Given the description of an element on the screen output the (x, y) to click on. 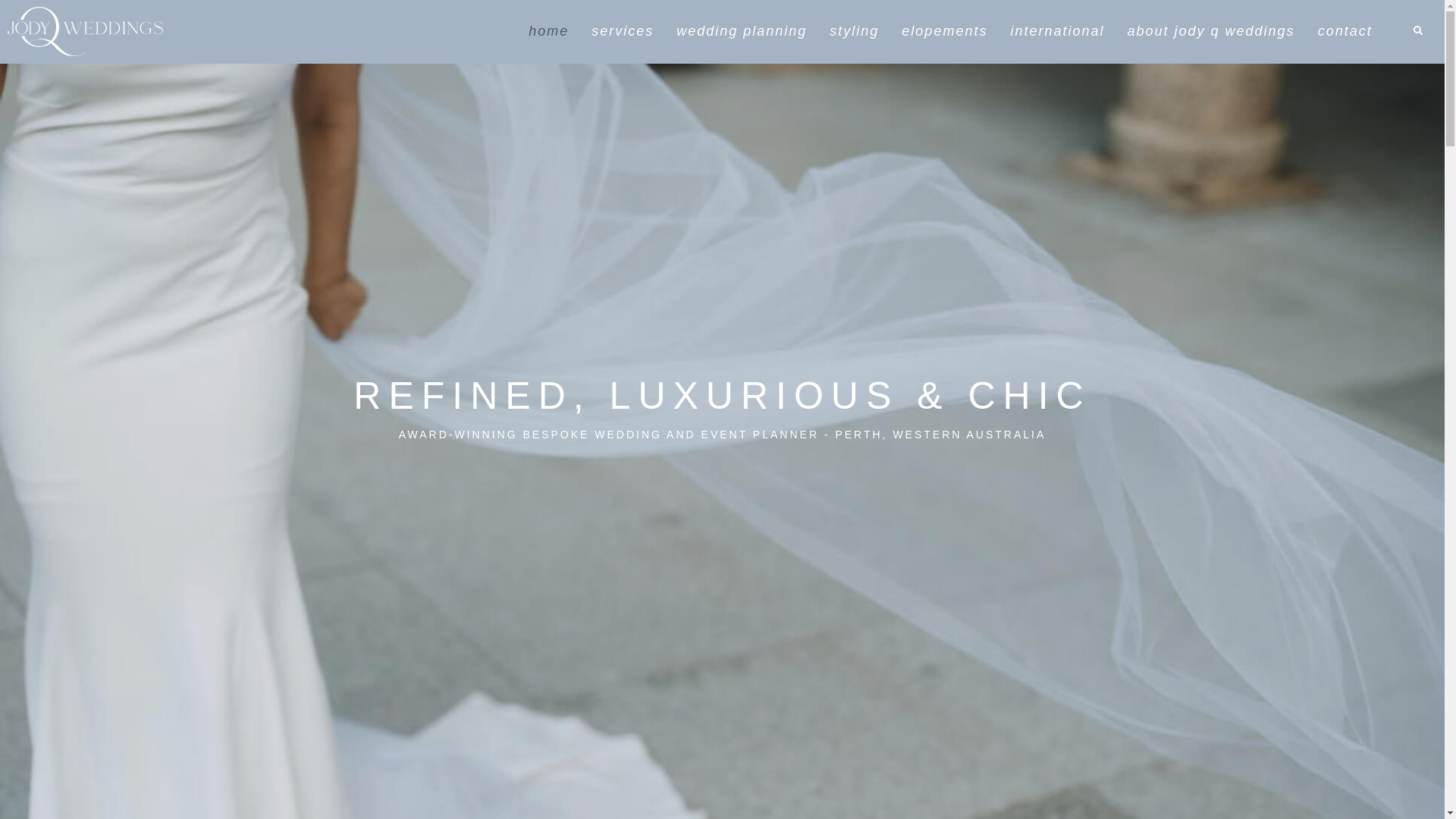
contact Element type: text (1344, 30)
styling Element type: text (853, 30)
international Element type: text (1057, 30)
home Element type: text (548, 30)
about jody q weddings Element type: text (1210, 30)
wedding planning Element type: text (741, 30)
services Element type: text (622, 30)
elopements Element type: text (944, 30)
